Given the description of an element on the screen output the (x, y) to click on. 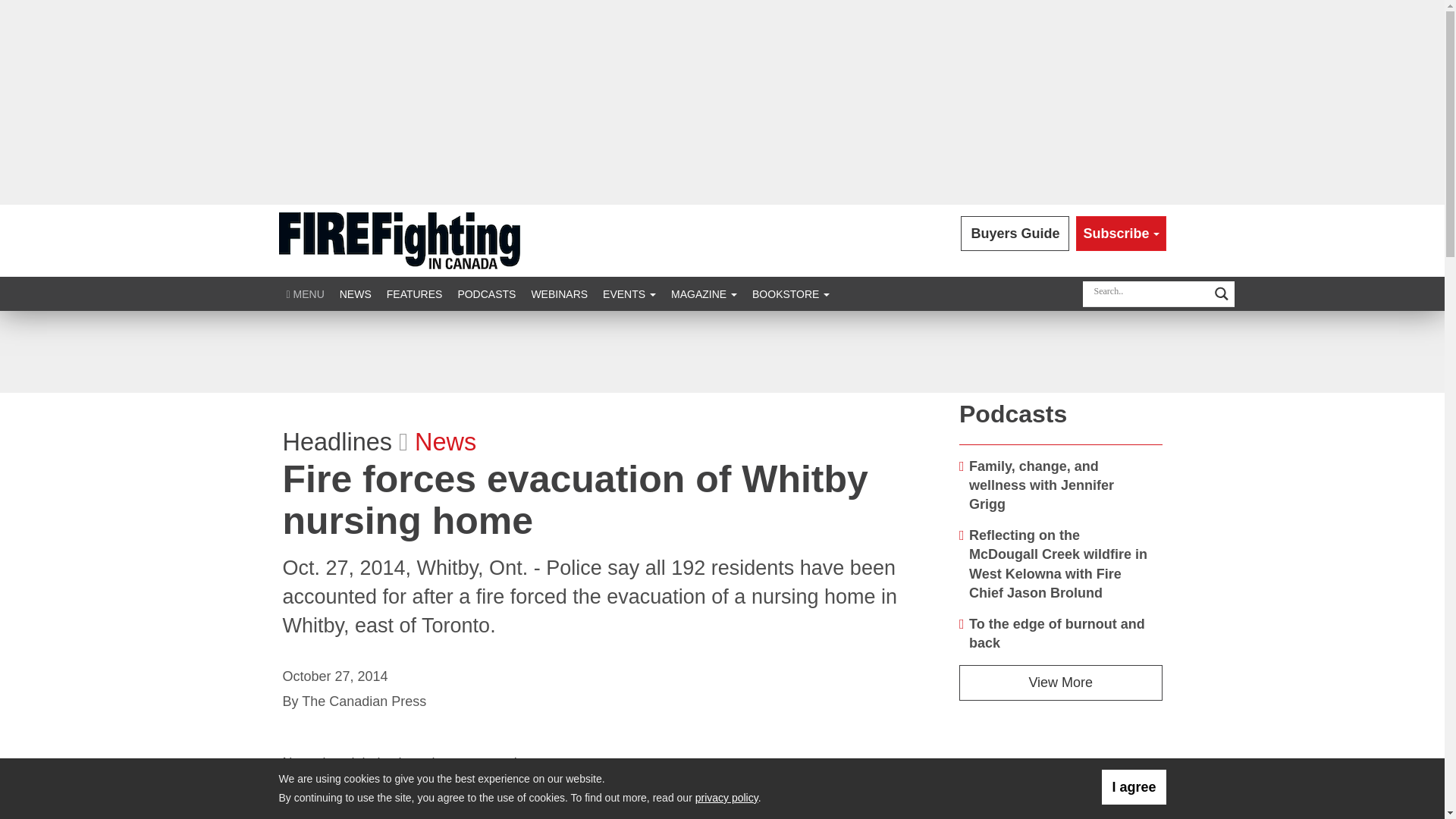
WEBINARS (558, 293)
Buyers Guide (1014, 233)
3rd party ad content (721, 351)
Click to show site navigation (305, 293)
BOOKSTORE (790, 293)
MENU (305, 293)
Subscribe (1120, 233)
FEATURES (413, 293)
EVENTS (629, 293)
PODCASTS (485, 293)
3rd party ad content (1060, 778)
MAGAZINE (703, 293)
NEWS (354, 293)
Fire Fighting in Canada (399, 239)
